Given the description of an element on the screen output the (x, y) to click on. 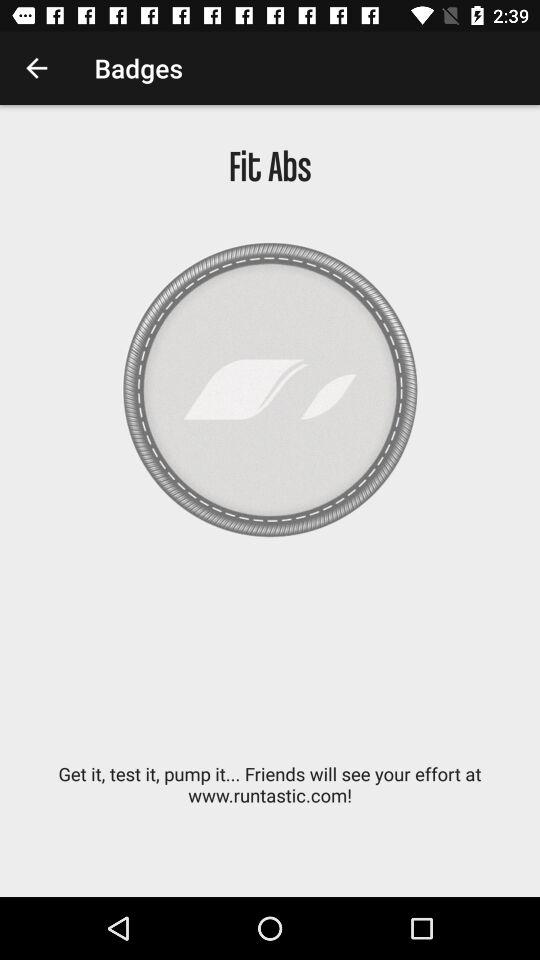
select the icon to the left of badges icon (36, 68)
